Given the description of an element on the screen output the (x, y) to click on. 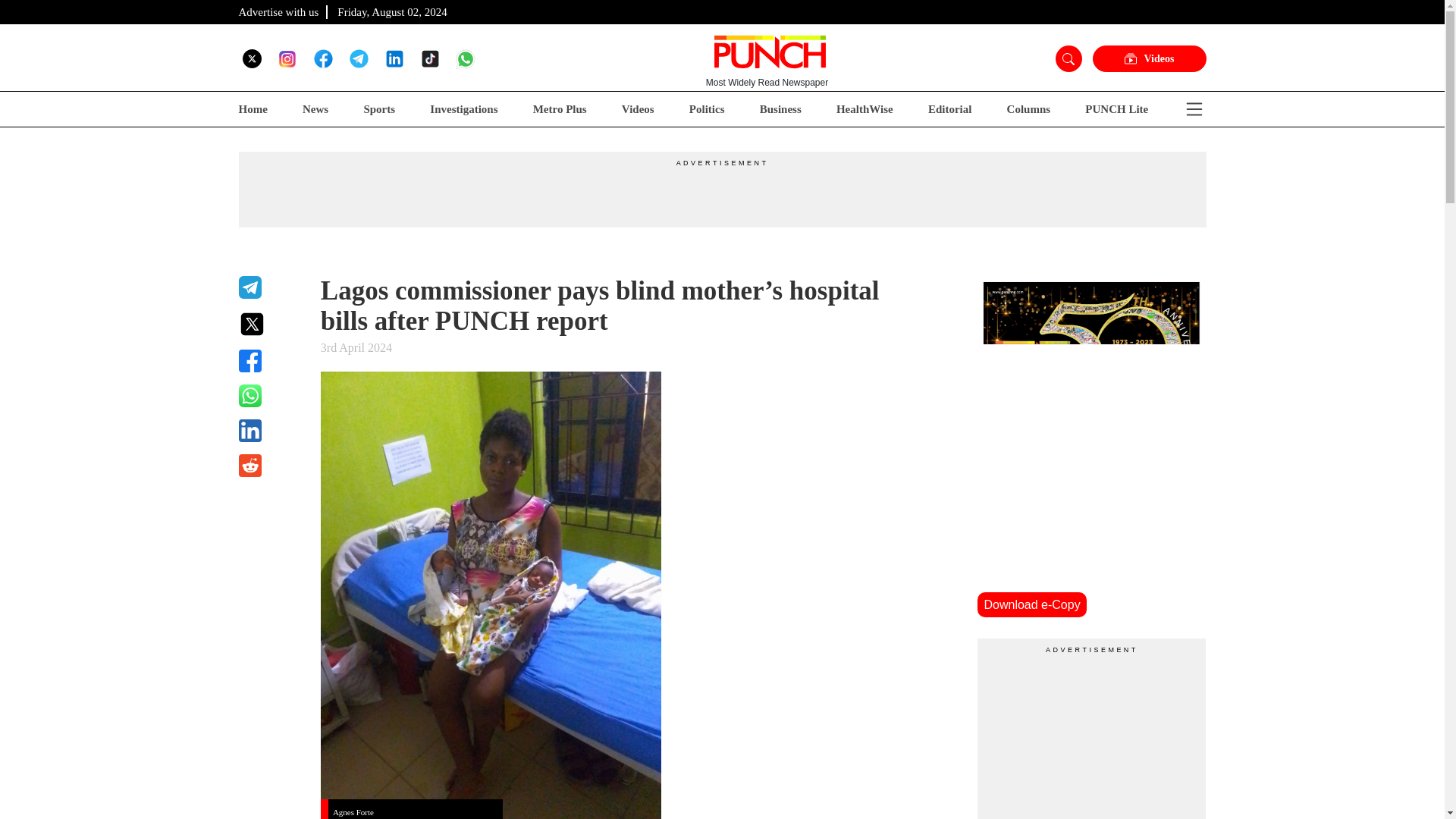
Editorial (950, 109)
Follow us on Tiktok (430, 58)
Share on Twitter (269, 324)
Videos (1148, 58)
Follow Us on Instagram (287, 58)
Sports (378, 109)
Business (781, 109)
Videos (637, 109)
Follow Us on X (252, 58)
Share on Facbook (269, 360)
Investigations (463, 109)
Columns (1029, 109)
Advertise with us (278, 11)
Follow Us on Facebook (323, 58)
Share on Reddit (269, 465)
